Given the description of an element on the screen output the (x, y) to click on. 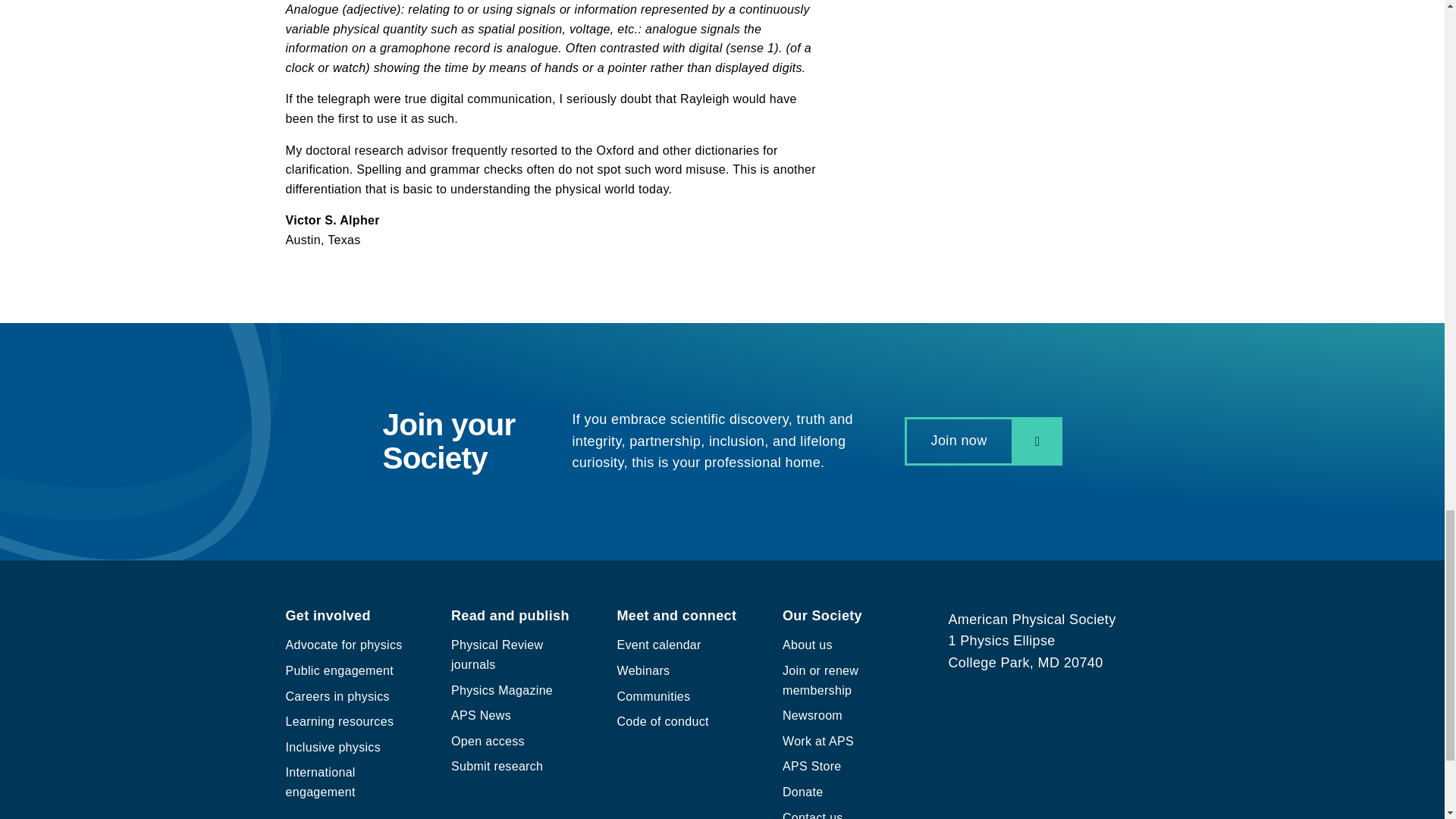
Code of conduct (663, 721)
Submit research (497, 766)
APS News (481, 715)
Join now (983, 440)
Event calendar (659, 644)
International engagement (320, 781)
Learning resources (339, 721)
Open access (487, 740)
Physical Review journals (497, 654)
Communities (653, 696)
Public engagement (339, 670)
Careers in physics (336, 696)
Webinars (643, 670)
Advocate for physics (343, 644)
Physics Magazine (502, 689)
